Given the description of an element on the screen output the (x, y) to click on. 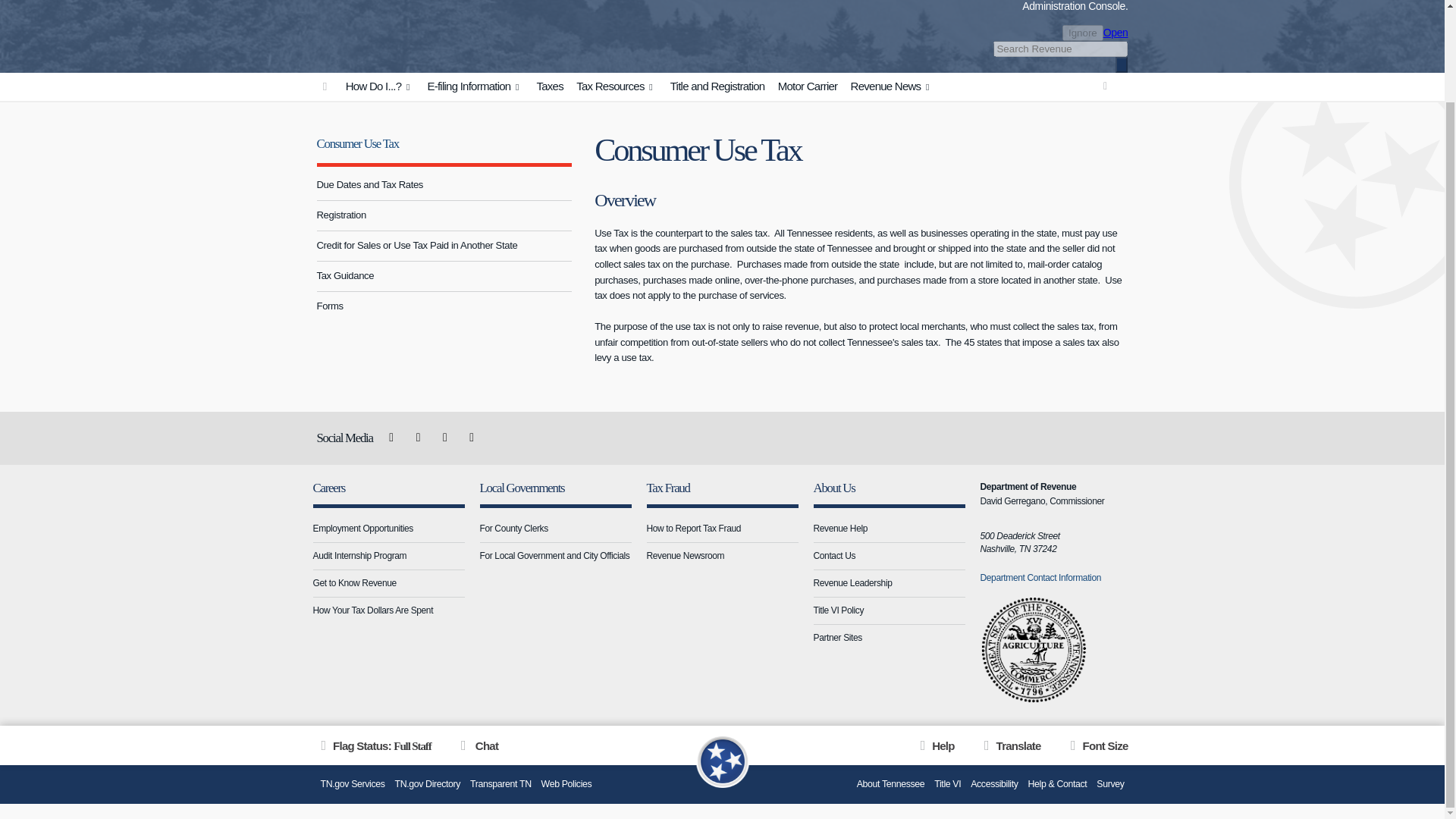
How Do I...? (379, 86)
Consumer Use Tax (357, 143)
Print This Page (1105, 85)
E-filing Information (475, 86)
Motor Carrier (808, 86)
Due Dates and Tax Rates (444, 184)
Go to Revenue (324, 86)
Tax Resources (616, 86)
Revenue News (892, 86)
Registration (444, 215)
Title and Registration (717, 86)
Taxes (549, 86)
